Given the description of an element on the screen output the (x, y) to click on. 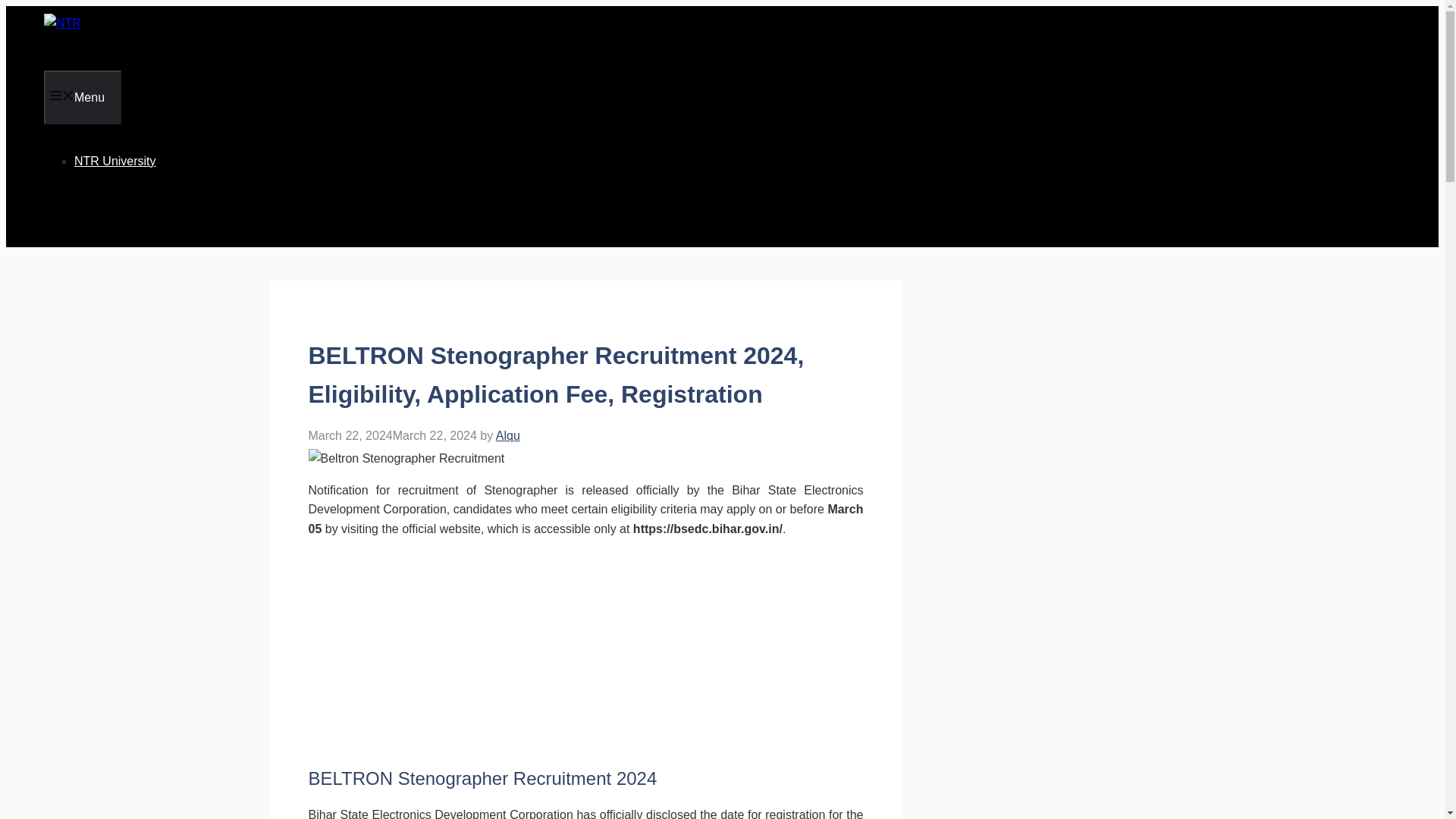
Alqu (507, 435)
View all posts by Alqu (507, 435)
Menu (81, 97)
NTR (92, 37)
NTR University (114, 160)
